Given the description of an element on the screen output the (x, y) to click on. 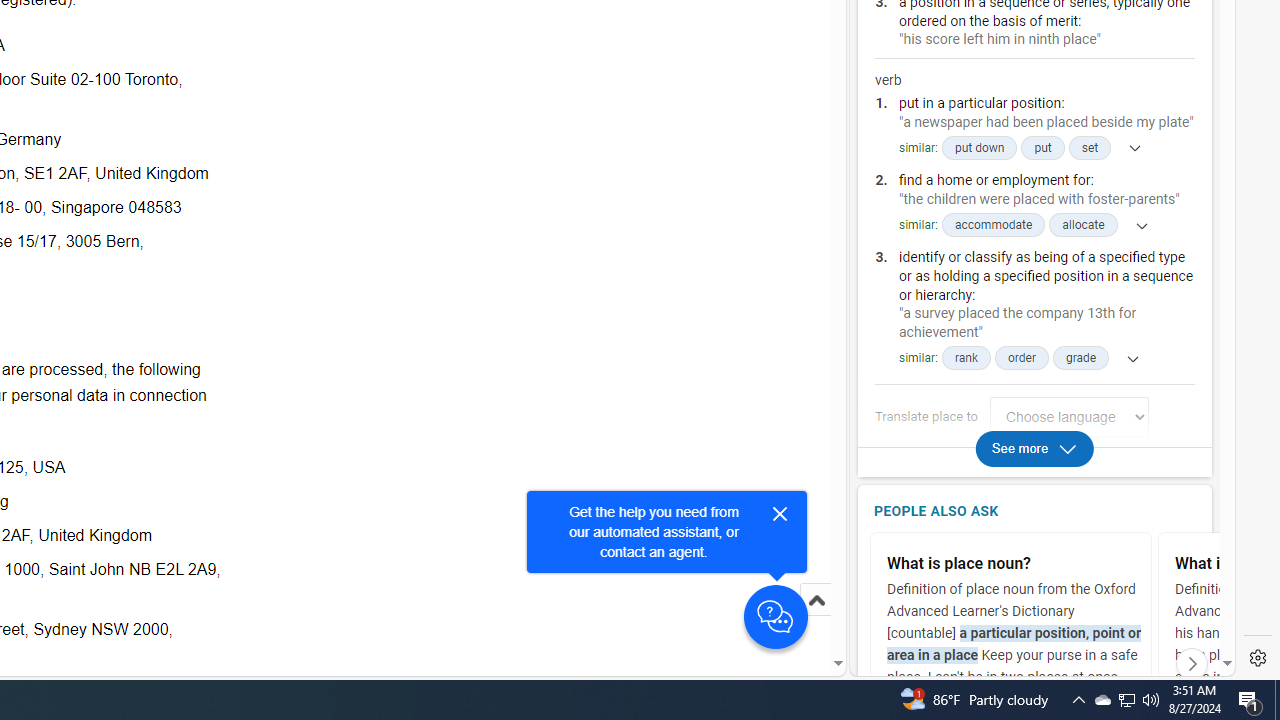
Show more (1127, 358)
Link for logging (1074, 416)
accommodate (992, 225)
Click to scroll right (1192, 663)
grade (1080, 358)
